Given the description of an element on the screen output the (x, y) to click on. 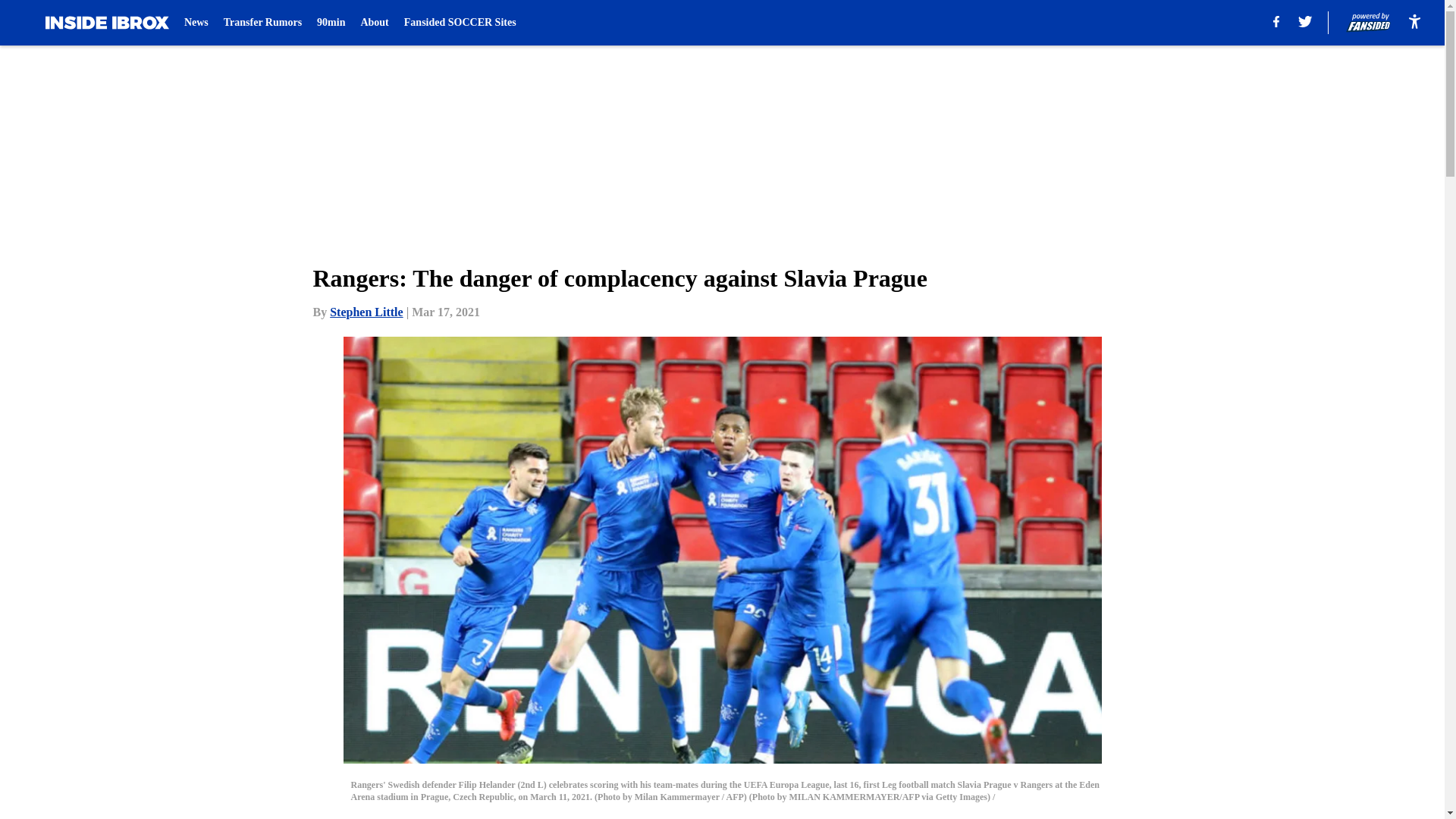
90min (331, 22)
News (196, 22)
Stephen Little (366, 311)
Transfer Rumors (262, 22)
About (373, 22)
Fansided SOCCER Sites (460, 22)
